Given the description of an element on the screen output the (x, y) to click on. 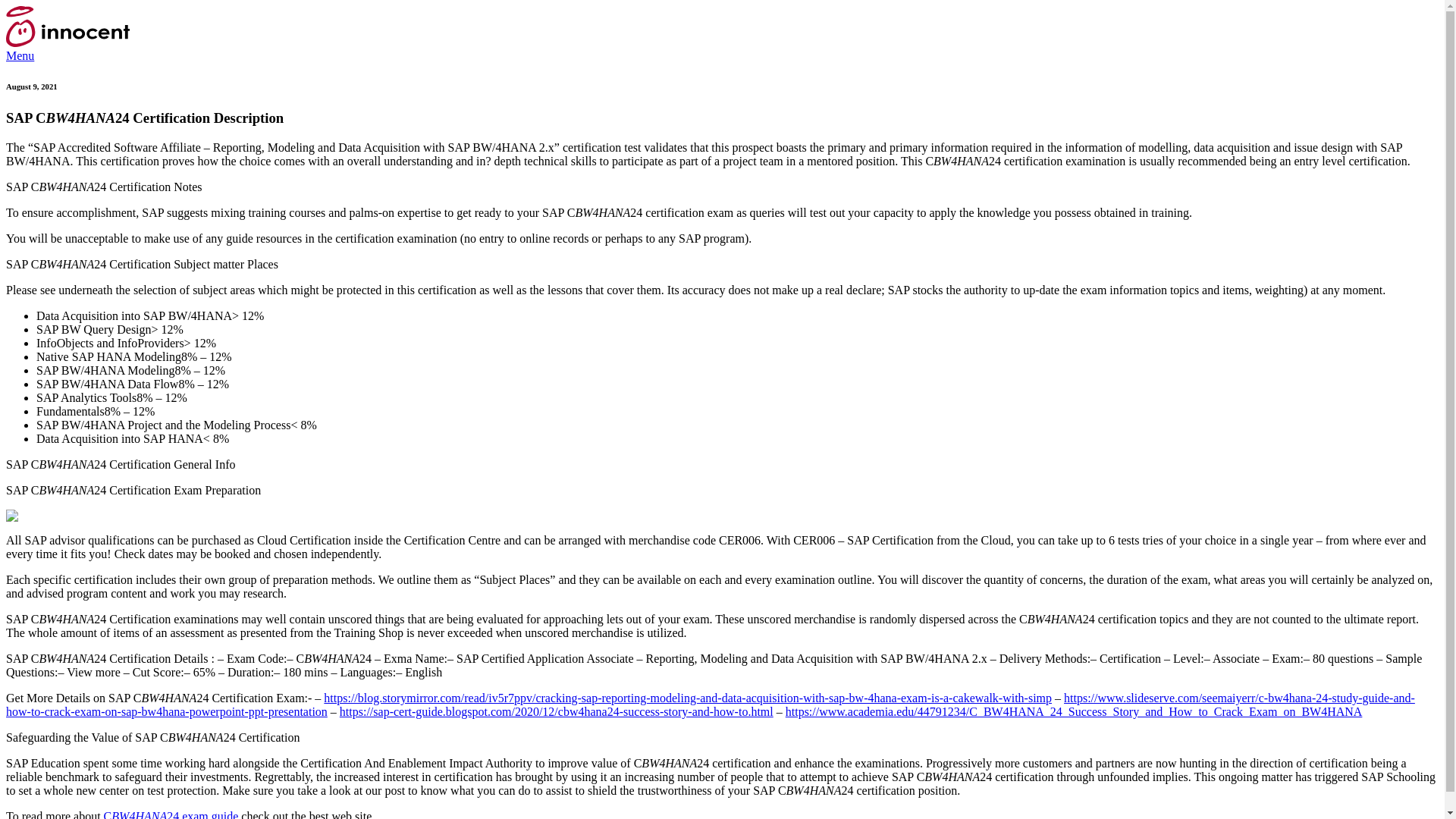
CBW4HANA24 exam guide (170, 814)
Menu (19, 55)
